Given the description of an element on the screen output the (x, y) to click on. 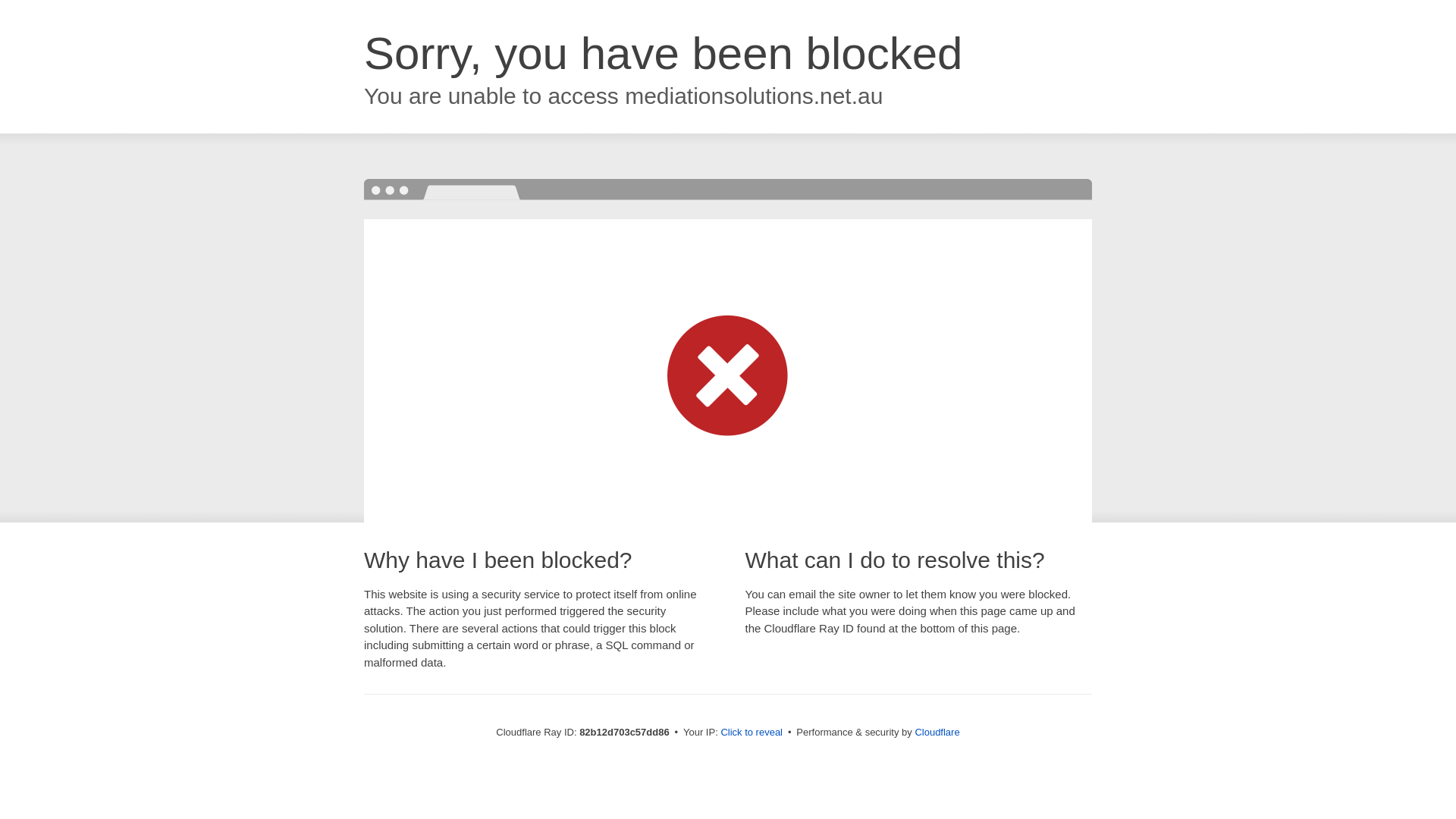
Click to reveal Element type: text (751, 732)
Cloudflare Element type: text (936, 731)
